Given the description of an element on the screen output the (x, y) to click on. 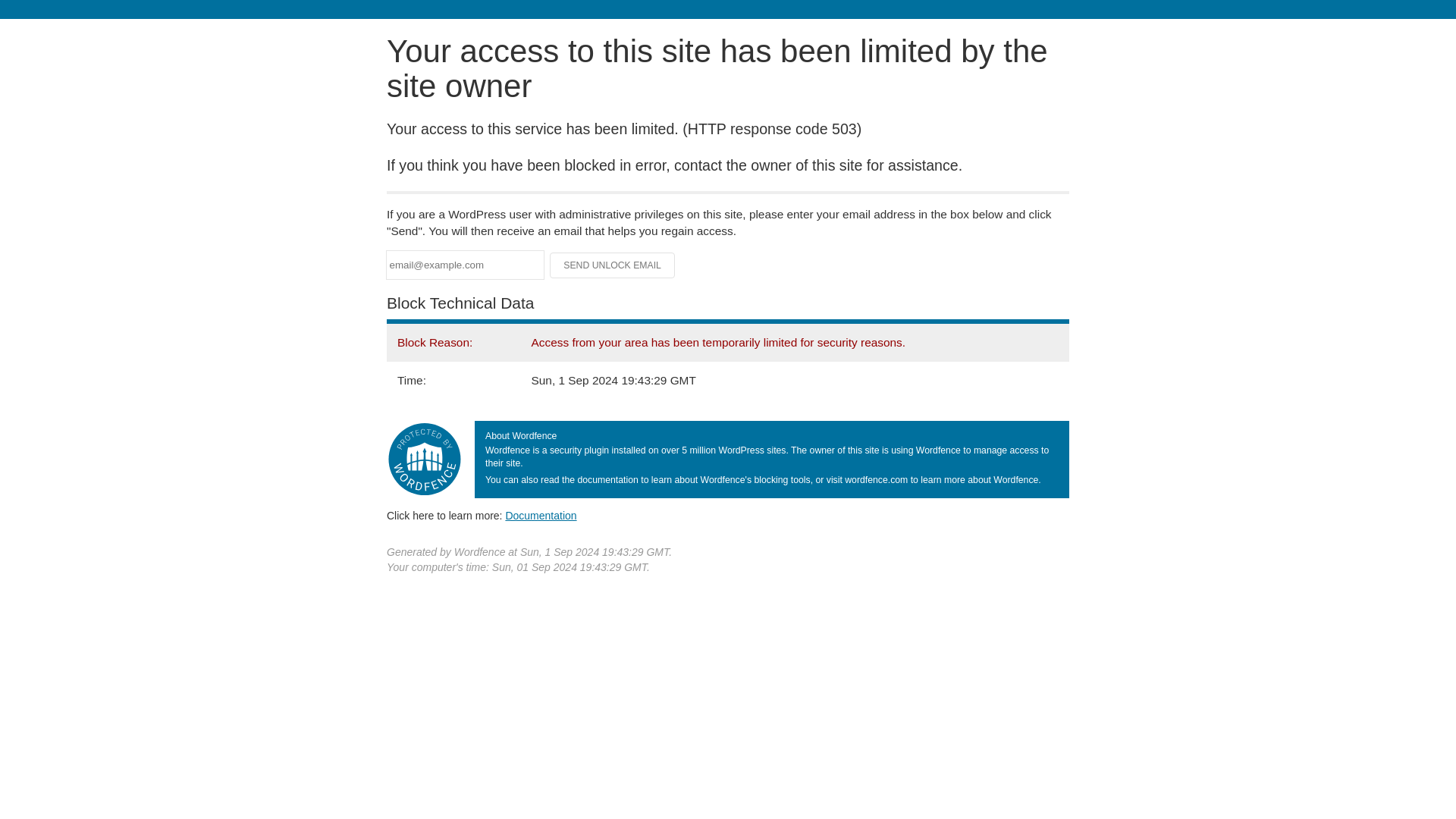
Documentation (540, 515)
Send Unlock Email (612, 265)
Send Unlock Email (612, 265)
